Given the description of an element on the screen output the (x, y) to click on. 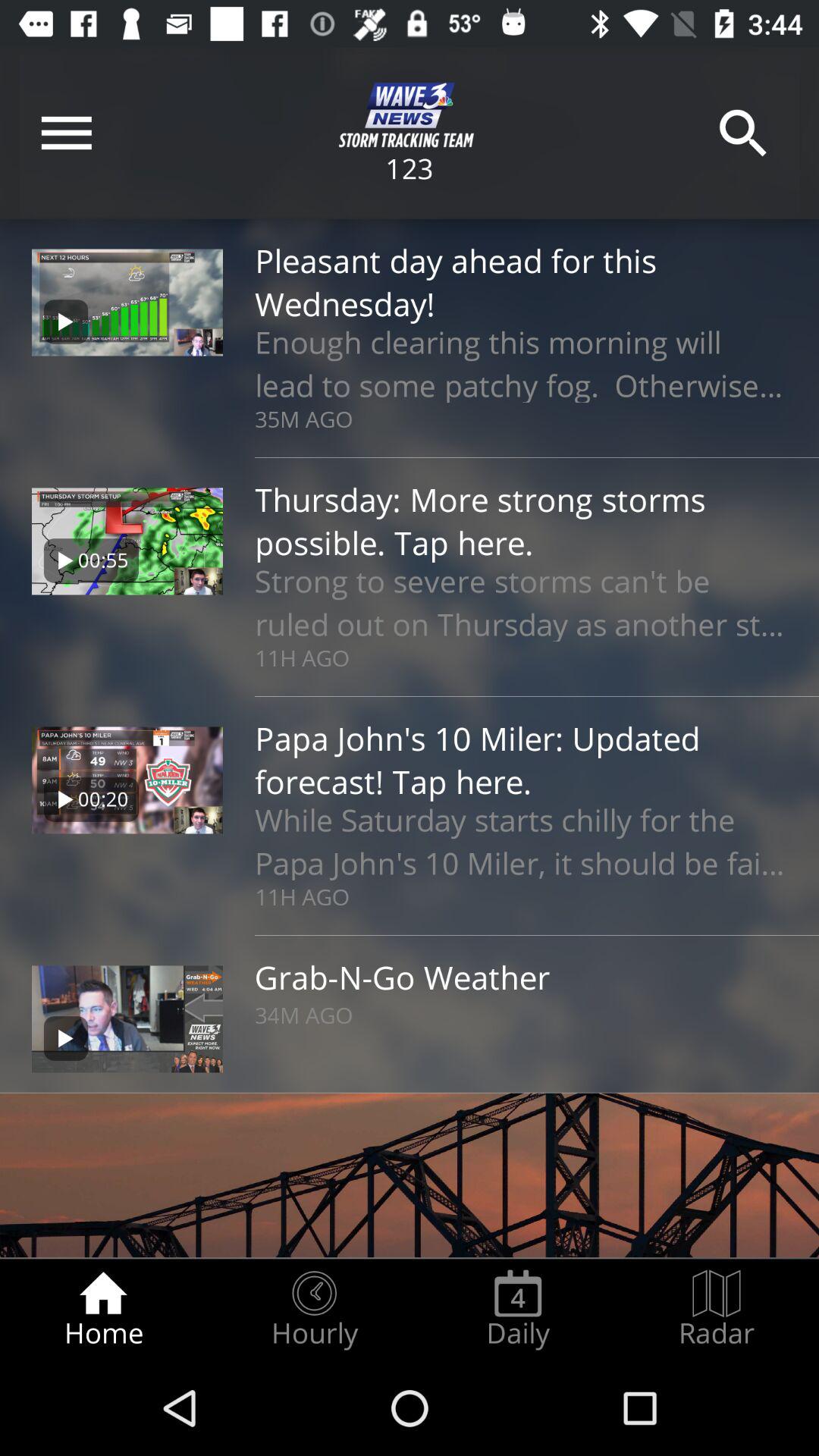
press the radio button to the right of the daily radio button (716, 1309)
